Given the description of an element on the screen output the (x, y) to click on. 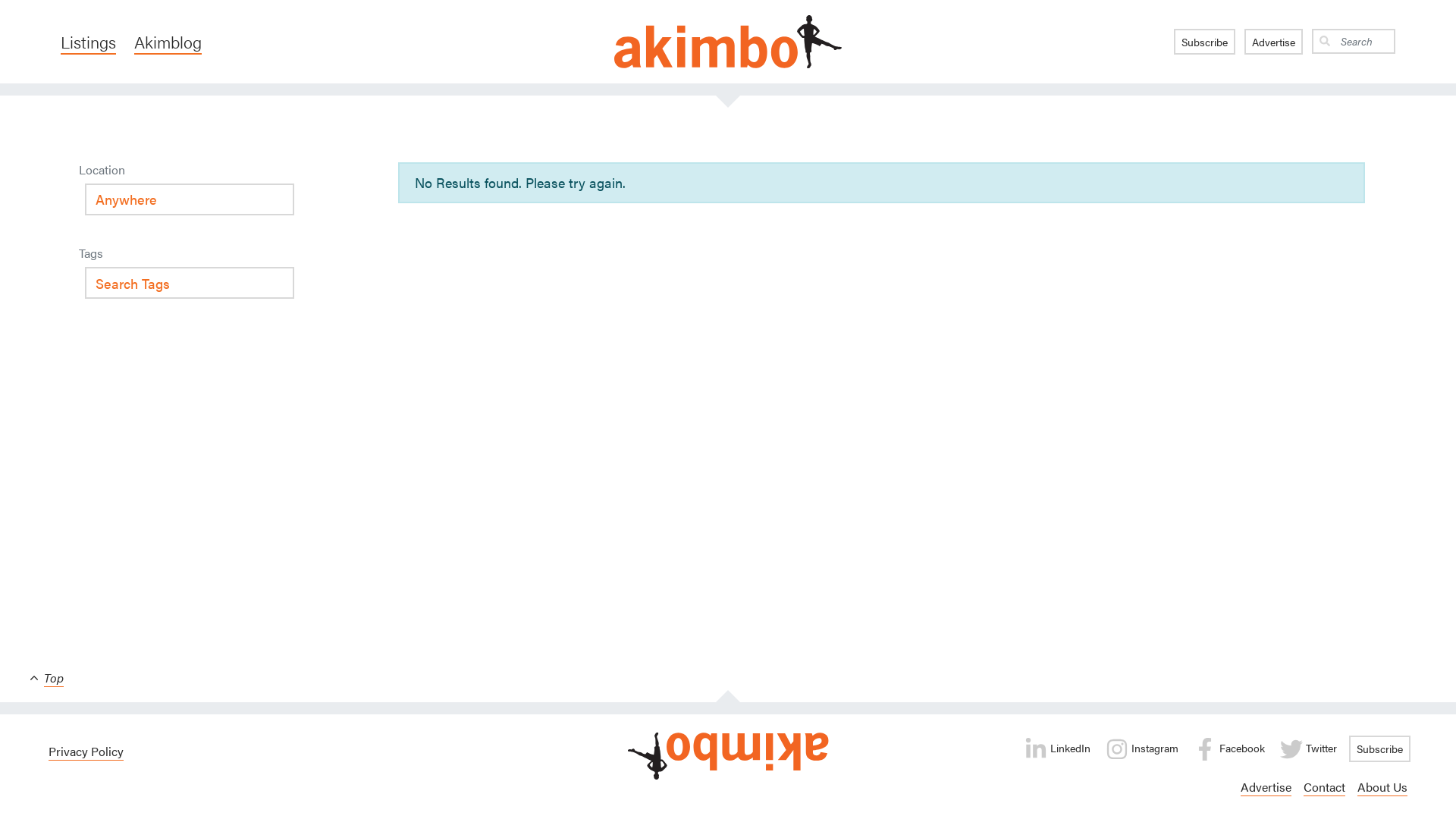
LinkedIn Element type: text (1057, 748)
Twitter Element type: text (1308, 748)
Listings Element type: text (88, 41)
Advertise Element type: text (1265, 787)
Instagram Element type: text (1141, 748)
Subscribe Element type: text (1204, 41)
Advertise Element type: text (1273, 41)
Subscribe Element type: text (1379, 748)
Top Element type: text (46, 677)
Akimblog Element type: text (167, 41)
About Us Element type: text (1382, 787)
Facebook Element type: text (1228, 748)
Privacy Policy Element type: text (85, 751)
Contact Element type: text (1324, 787)
